Given the description of an element on the screen output the (x, y) to click on. 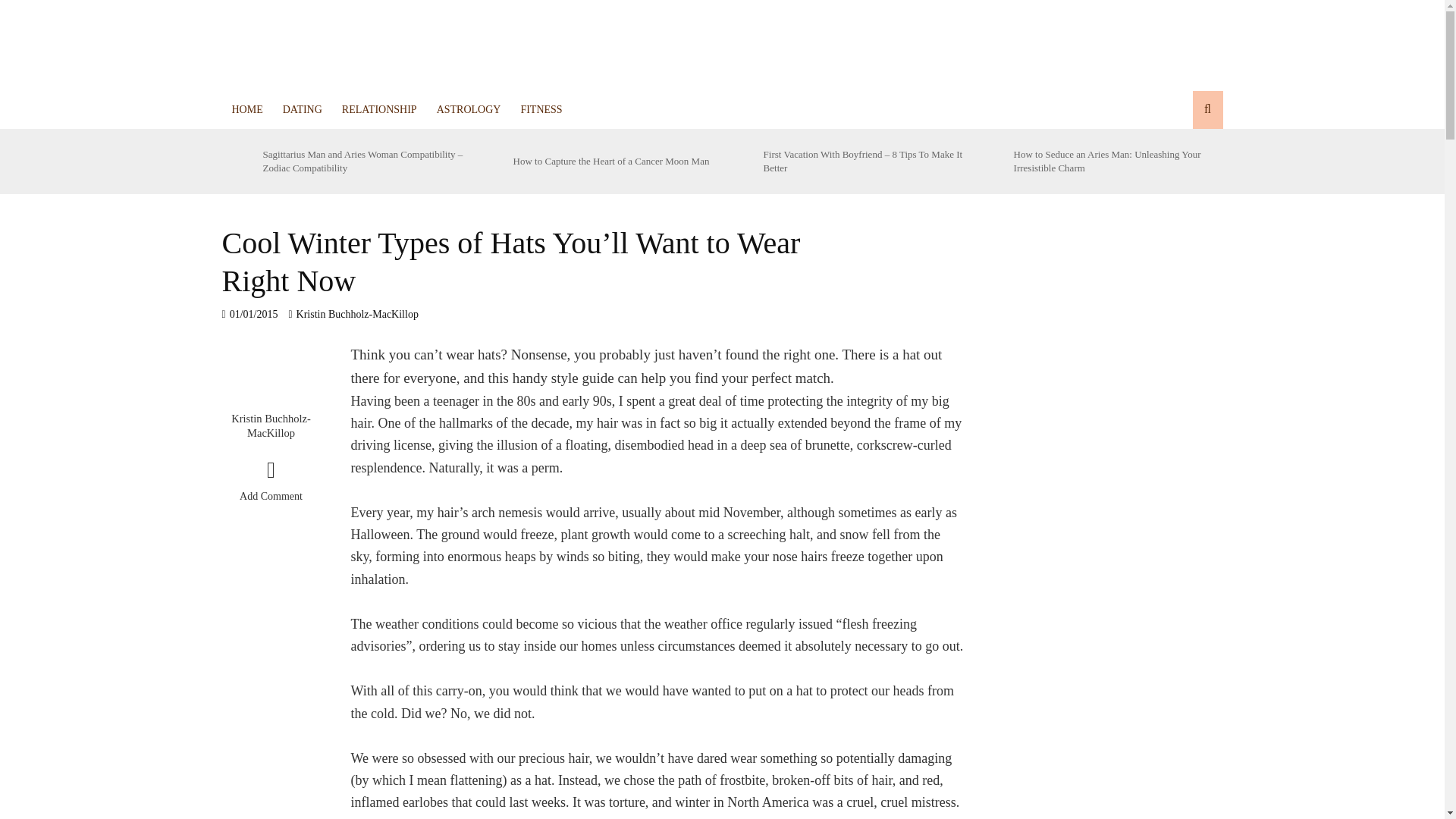
RELATIONSHIP (378, 109)
DATING (302, 109)
Kristin Buchholz-MacKillop (358, 315)
ASTROLOGY (468, 109)
Add Comment (270, 484)
How to Capture the Heart of a Cancer Moon Man (488, 161)
How to Capture the Heart of a Cancer Moon Man (613, 161)
FITNESS (541, 109)
HOME (246, 109)
